Given the description of an element on the screen output the (x, y) to click on. 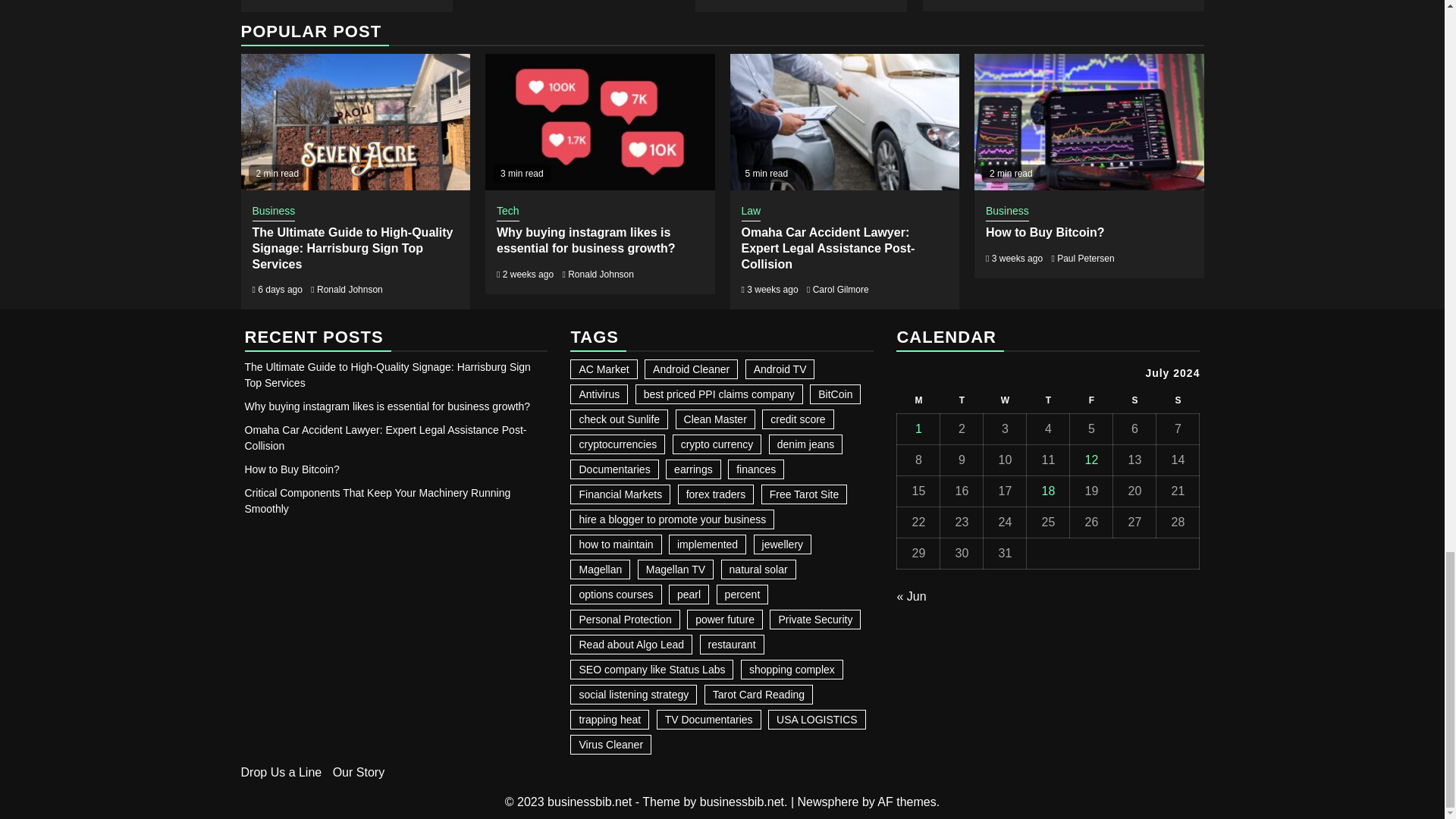
Saturday (1134, 400)
Thursday (1048, 400)
Friday (1091, 400)
Tuesday (962, 400)
Wednesday (1005, 400)
Sunday (1177, 400)
Monday (918, 400)
